Given the description of an element on the screen output the (x, y) to click on. 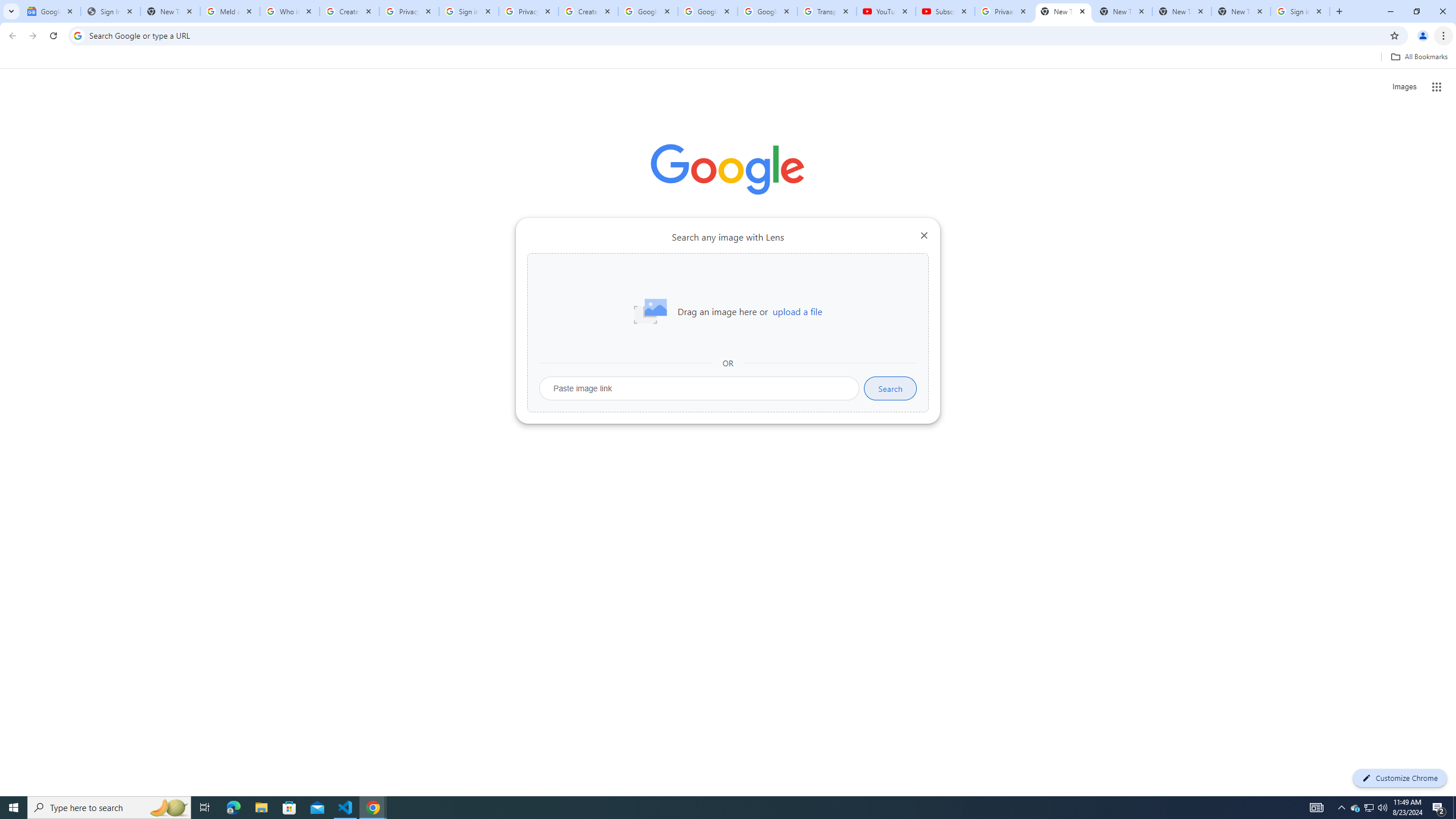
Chrome Web Store (663, 287)
Paste image link (699, 388)
More actions for Chrome Web Store shortcut (686, 265)
Who is my administrator? - Google Account Help (289, 11)
